Given the description of an element on the screen output the (x, y) to click on. 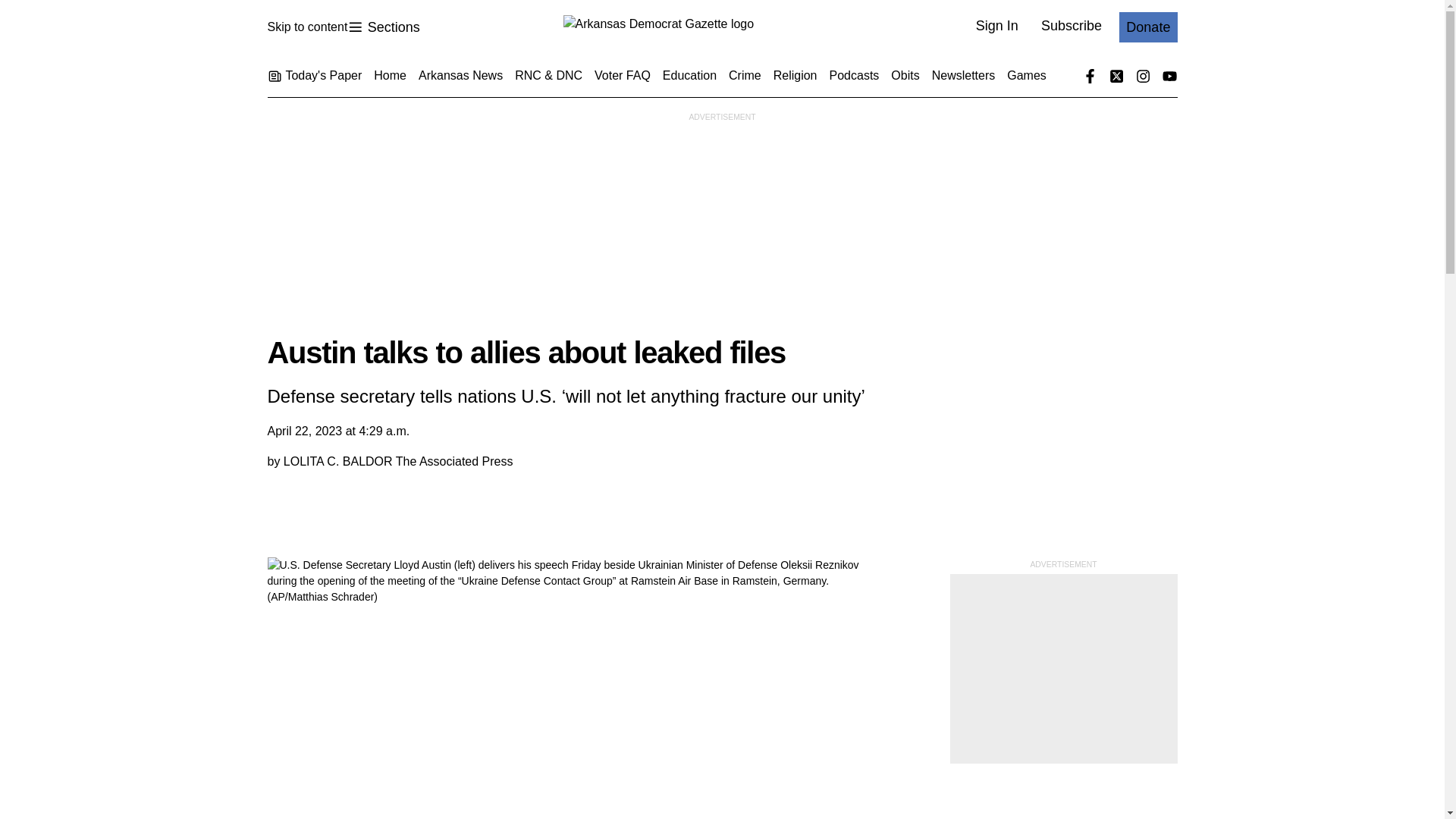
Skip to content (383, 26)
Arkansas Democrat Gazette (306, 27)
